Given the description of an element on the screen output the (x, y) to click on. 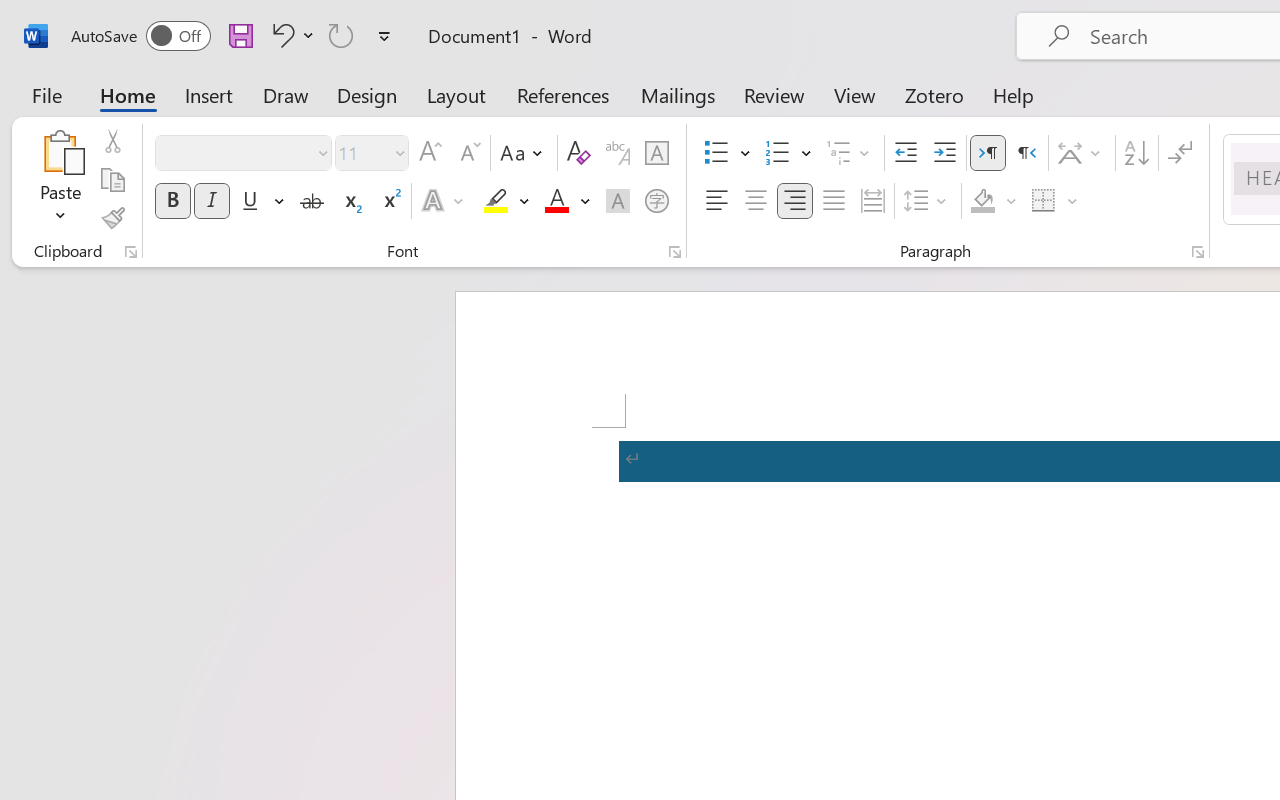
Can't Repeat (341, 35)
Text Highlight Color RGB(255, 255, 0) (495, 201)
